Given the description of an element on the screen output the (x, y) to click on. 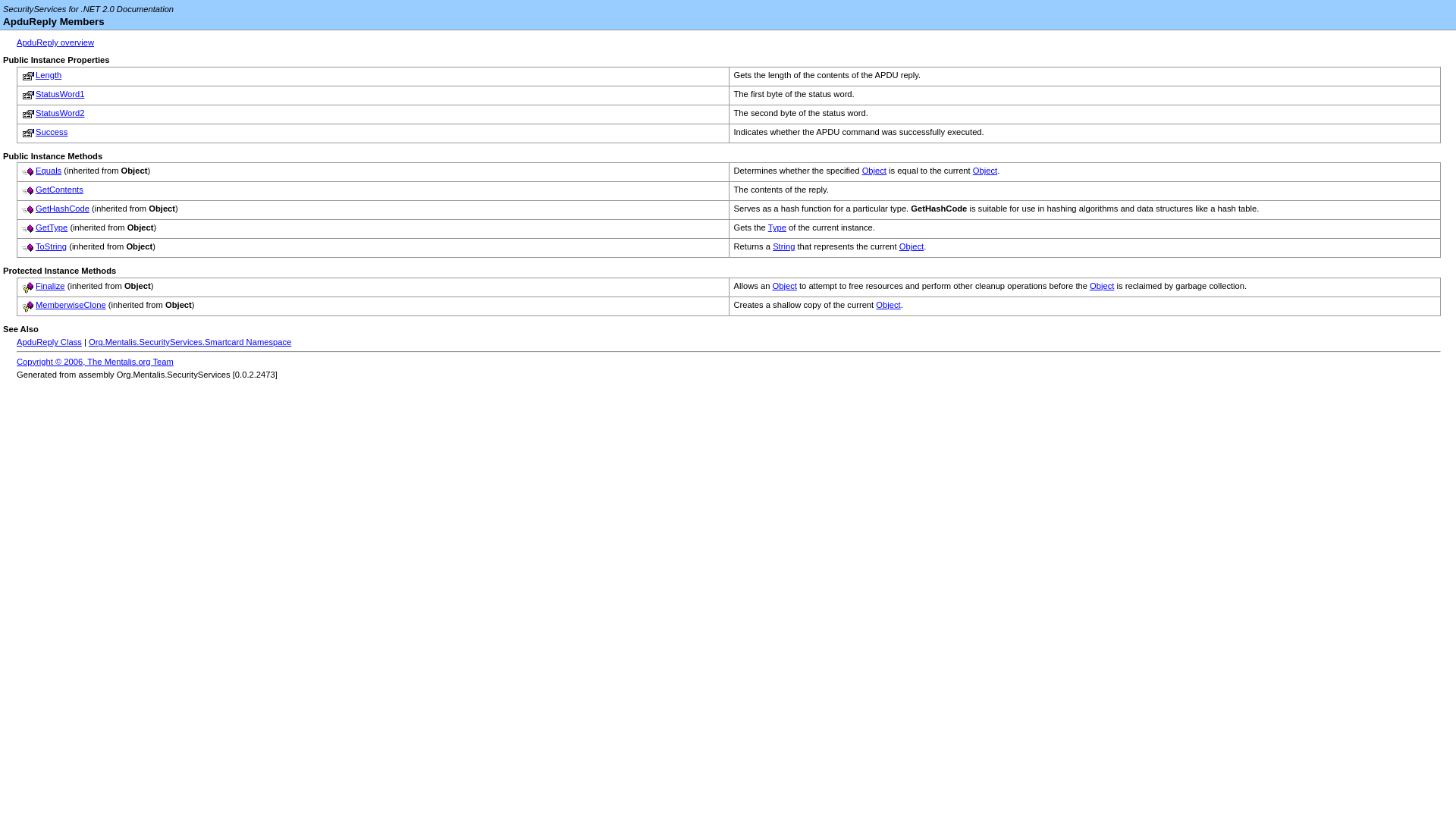
GetType (50, 226)
Object (783, 285)
StatusWord2 (59, 112)
Object (1101, 285)
Object (984, 170)
GetHashCode (61, 207)
ToString (50, 245)
Object (873, 170)
Finalize (49, 285)
ApduReply Class (48, 341)
MemberwiseClone (70, 304)
StatusWord1 (59, 93)
Length (47, 74)
Org.Mentalis.SecurityServices.Smartcard Namespace (189, 341)
Equals (47, 170)
